Given the description of an element on the screen output the (x, y) to click on. 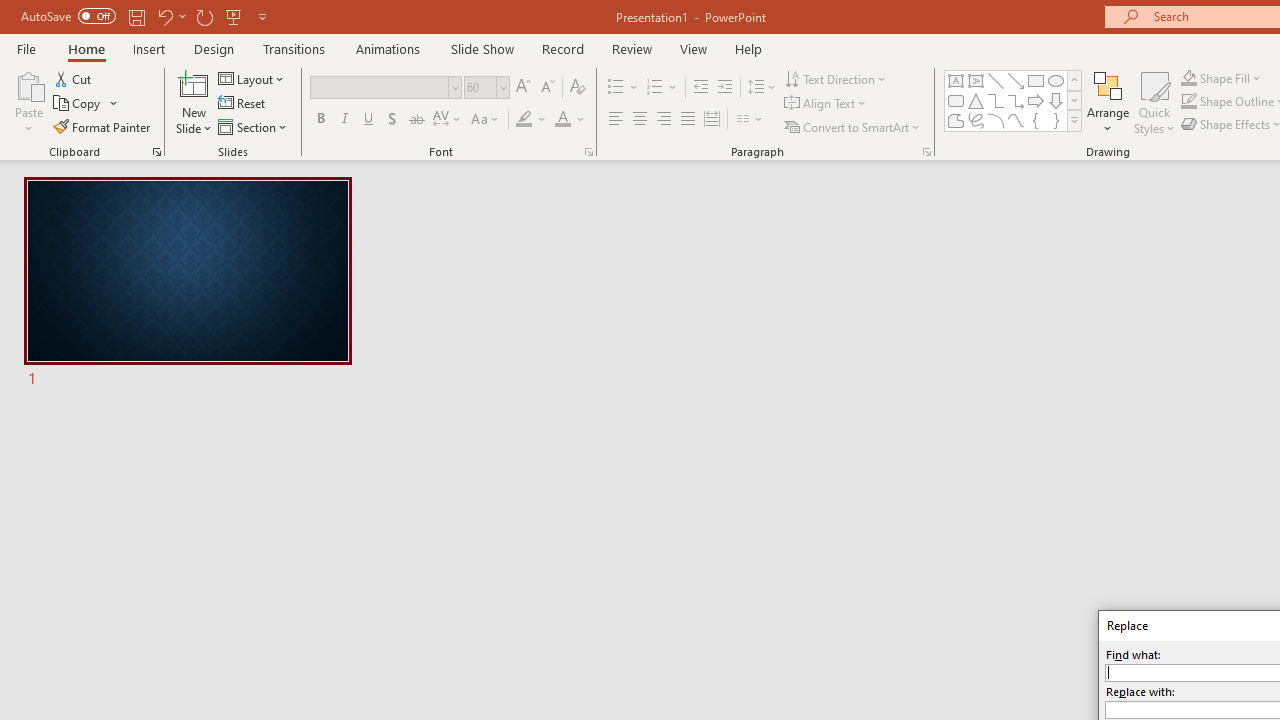
Section (254, 126)
Paragraph... (926, 151)
Format Painter (103, 126)
Text Direction (836, 78)
Font Color Red (562, 119)
Character Spacing (447, 119)
Shape Outline Blue, Accent 1 (1188, 101)
Reset (243, 103)
Align Right (663, 119)
